Given the description of an element on the screen output the (x, y) to click on. 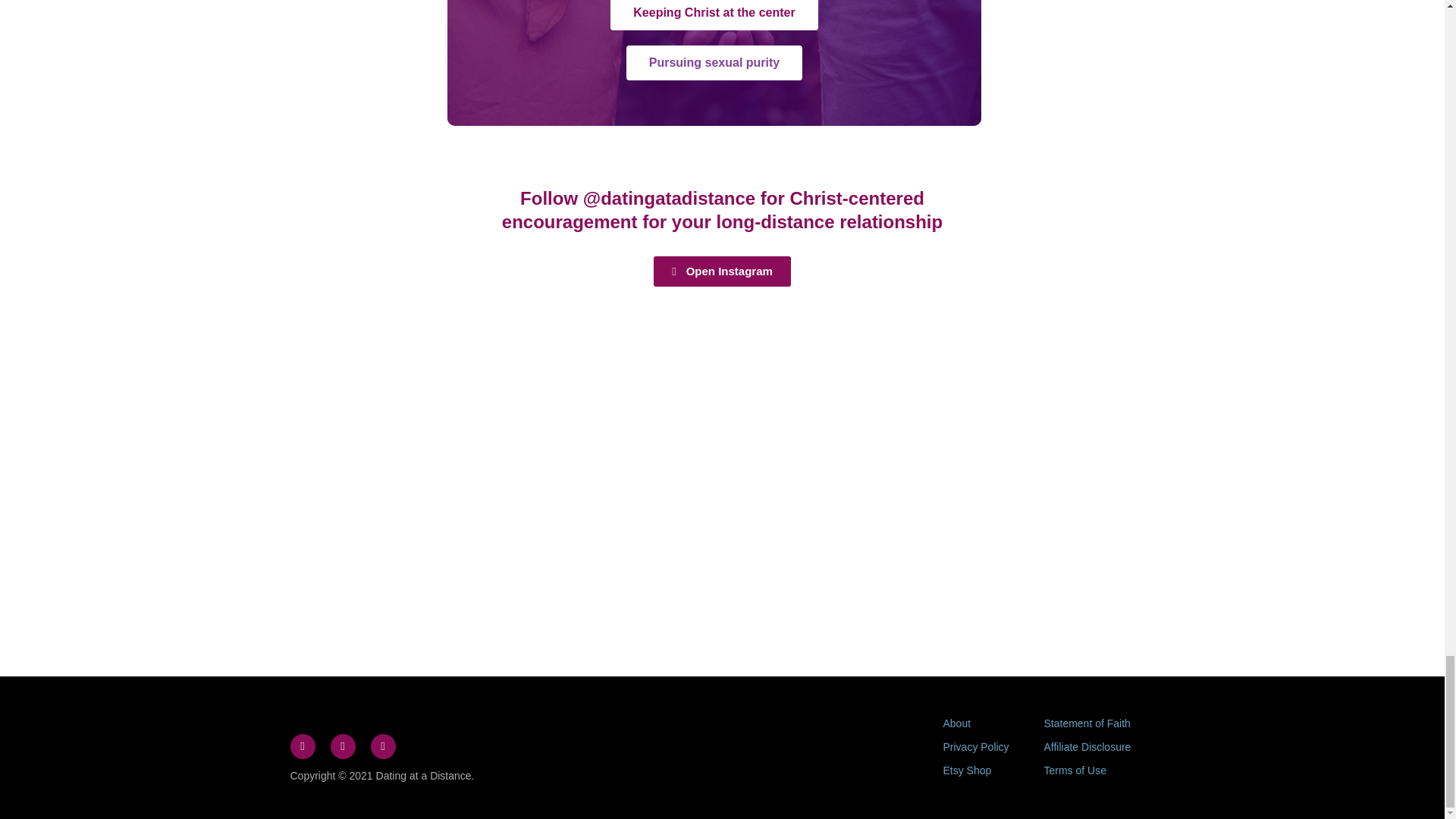
Open Instagram (721, 271)
Pursuing sexual purity (714, 62)
Keeping Christ at the center (713, 15)
